Given the description of an element on the screen output the (x, y) to click on. 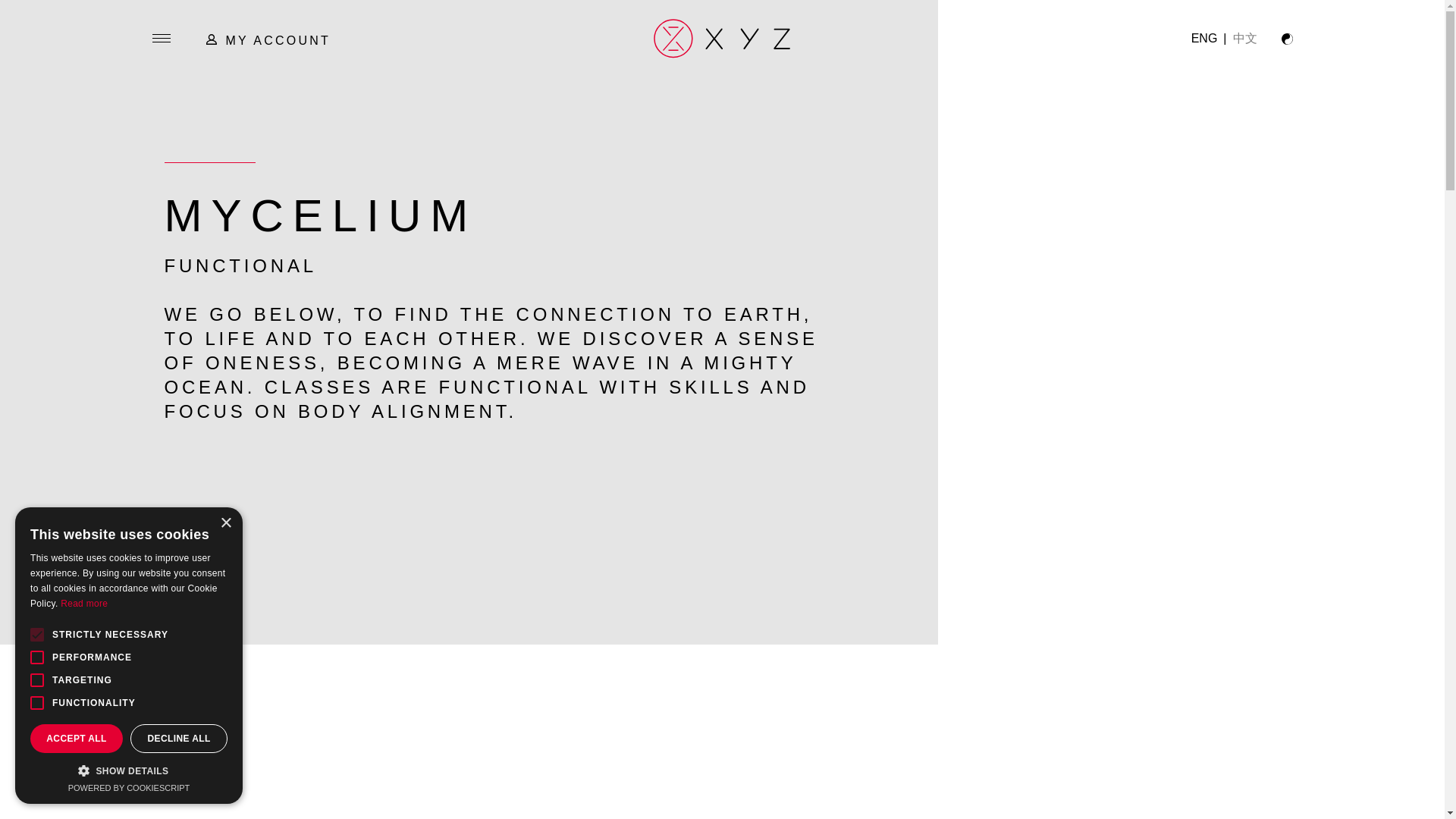
Consent Management Platform (129, 787)
MY ACCOUNT (268, 38)
